Given the description of an element on the screen output the (x, y) to click on. 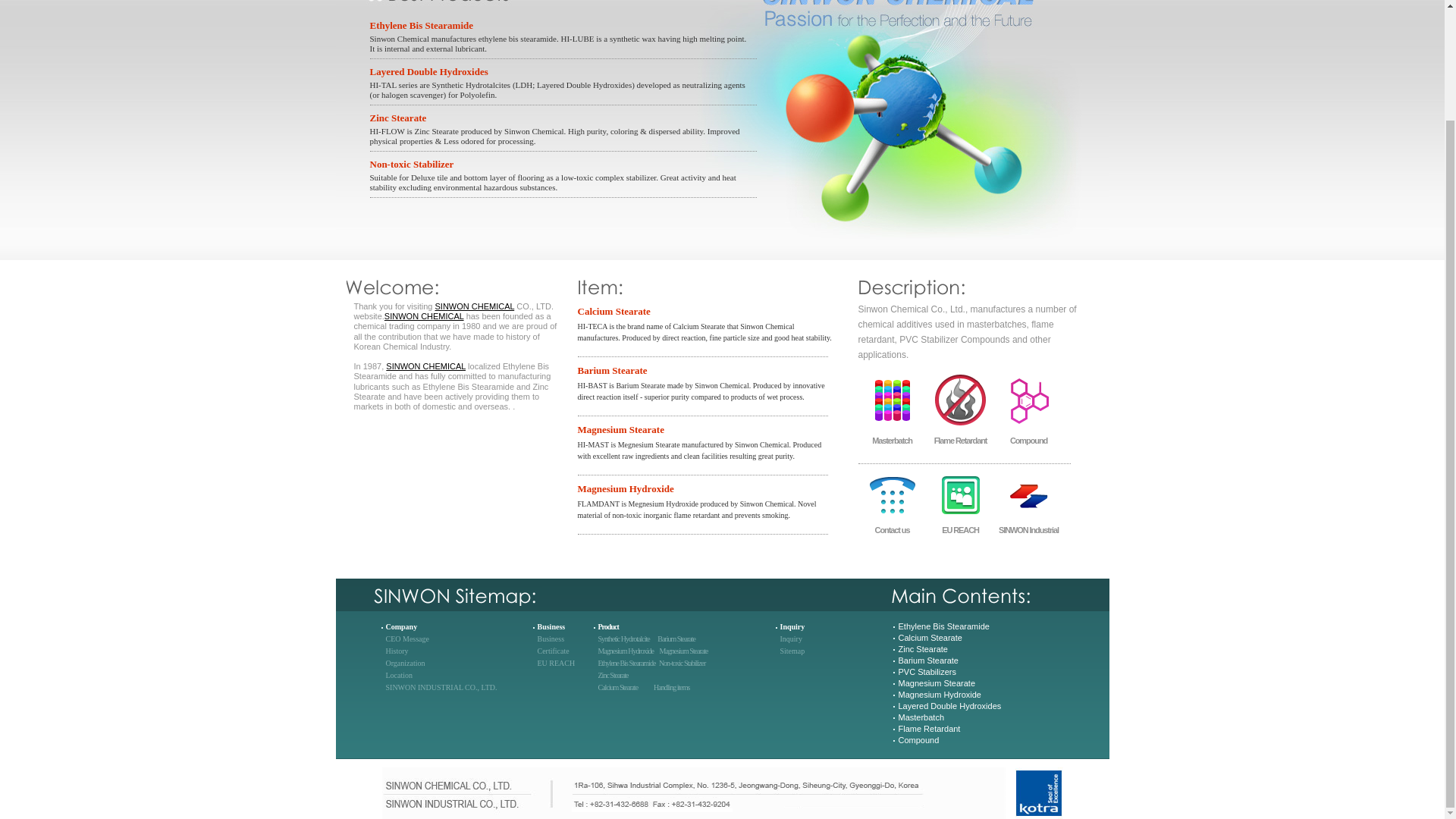
Product (606, 626)
Non-toxic Stabilizer (559, 163)
History (396, 651)
Magnesium Hydroxide (624, 651)
Layered Double Hydroxides (559, 71)
Certificate (553, 651)
Magnesium Hydroxide (706, 488)
Zinc Stearate (611, 674)
Synthetic Hydrotalcite (622, 638)
Ethylene Bis Stearamide (559, 25)
